Given the description of an element on the screen output the (x, y) to click on. 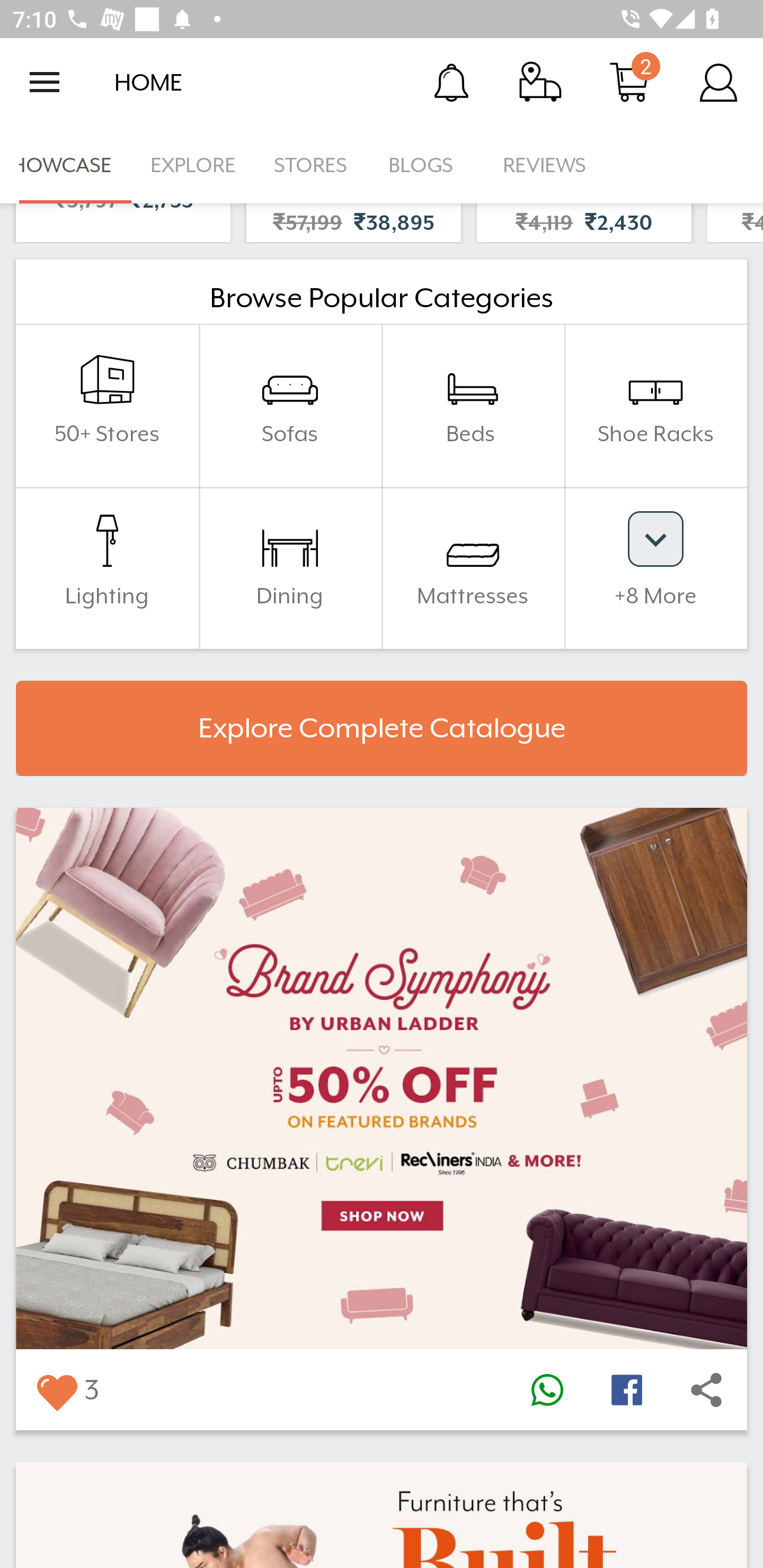
Open navigation drawer (44, 82)
Notification (450, 81)
Track Order (540, 81)
Cart (629, 81)
Account Details (718, 81)
SHOWCASE (65, 165)
EXPLORE (192, 165)
STORES (311, 165)
BLOGS (426, 165)
REVIEWS (544, 165)
50+ Stores (106, 405)
Sofas (289, 405)
Beds  (473, 405)
Shoe Racks (655, 405)
Lighting (106, 567)
Dining (289, 567)
Mattresses (473, 567)
 +8 More (655, 567)
Explore Complete Catalogue (381, 728)
 (55, 1389)
 (547, 1389)
 (626, 1389)
 (706, 1389)
